Given the description of an element on the screen output the (x, y) to click on. 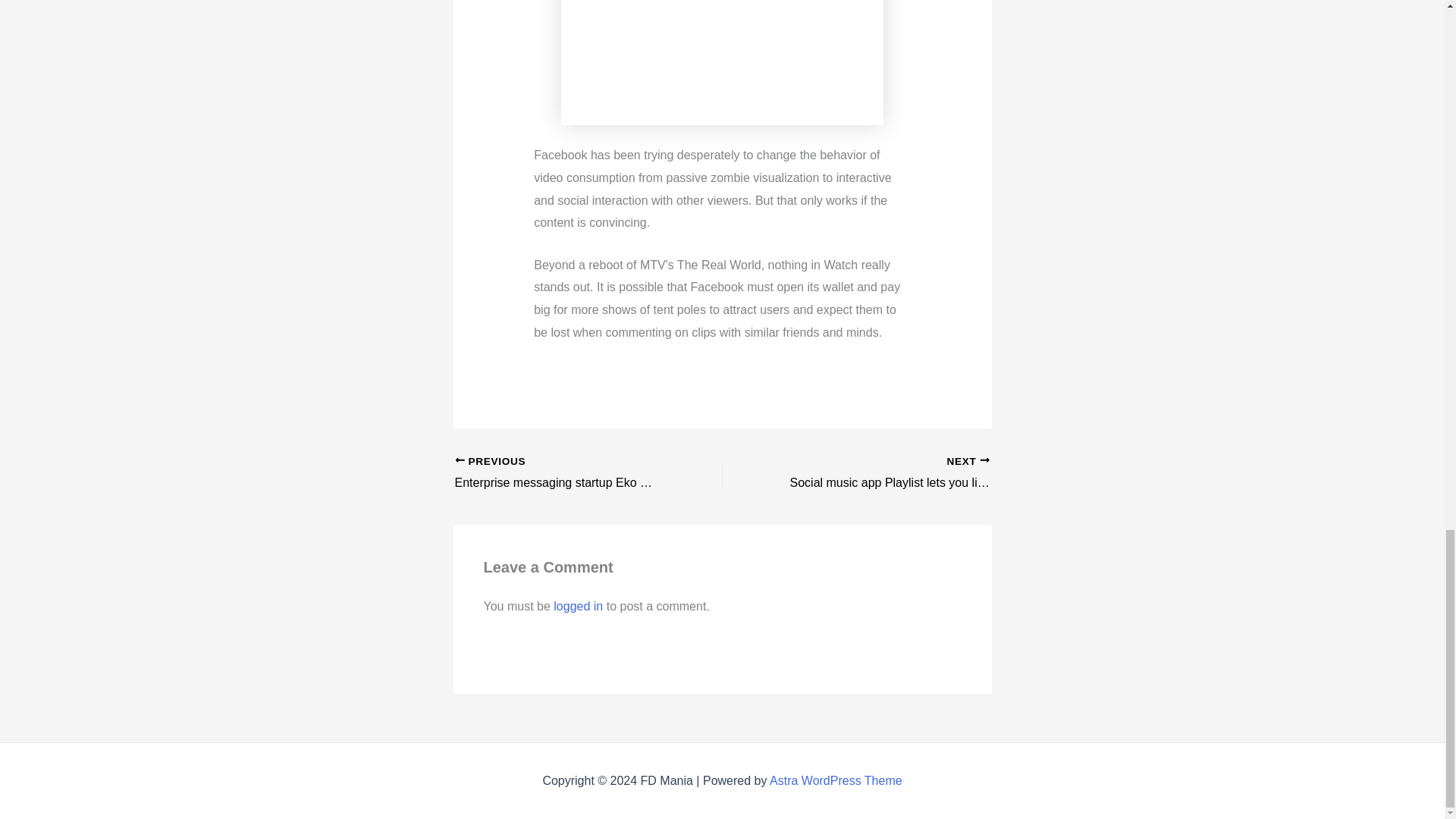
logged in (577, 605)
Astra WordPress Theme (836, 780)
